Given the description of an element on the screen output the (x, y) to click on. 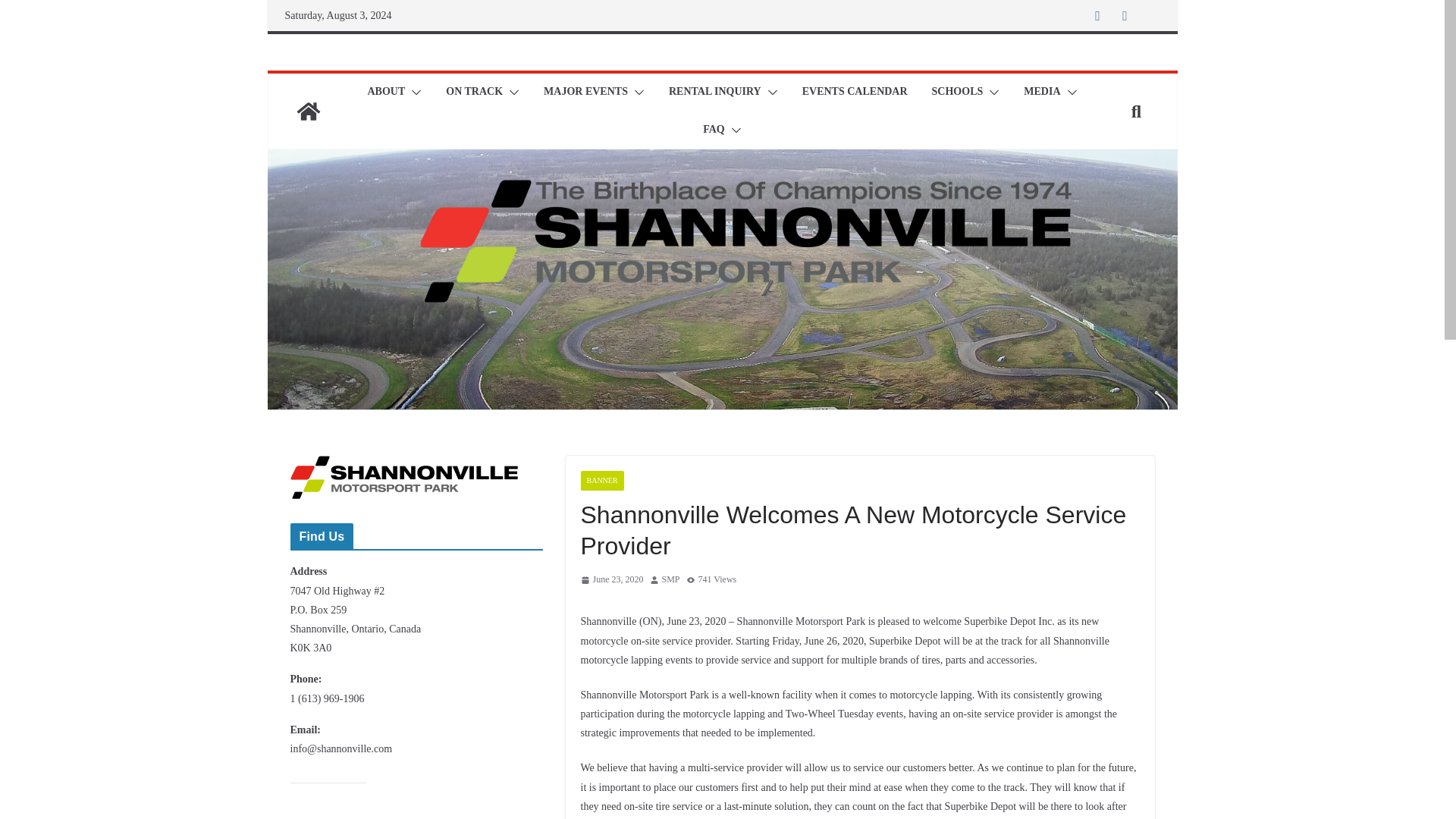
Shannonville Motorsport Park (307, 111)
11:50 am (611, 579)
ON TRACK (473, 92)
SMP (670, 579)
ABOUT (385, 92)
MAJOR EVENTS (585, 92)
SCHOOLS (957, 92)
EVENTS CALENDAR (854, 92)
RENTAL INQUIRY (714, 92)
